Given the description of an element on the screen output the (x, y) to click on. 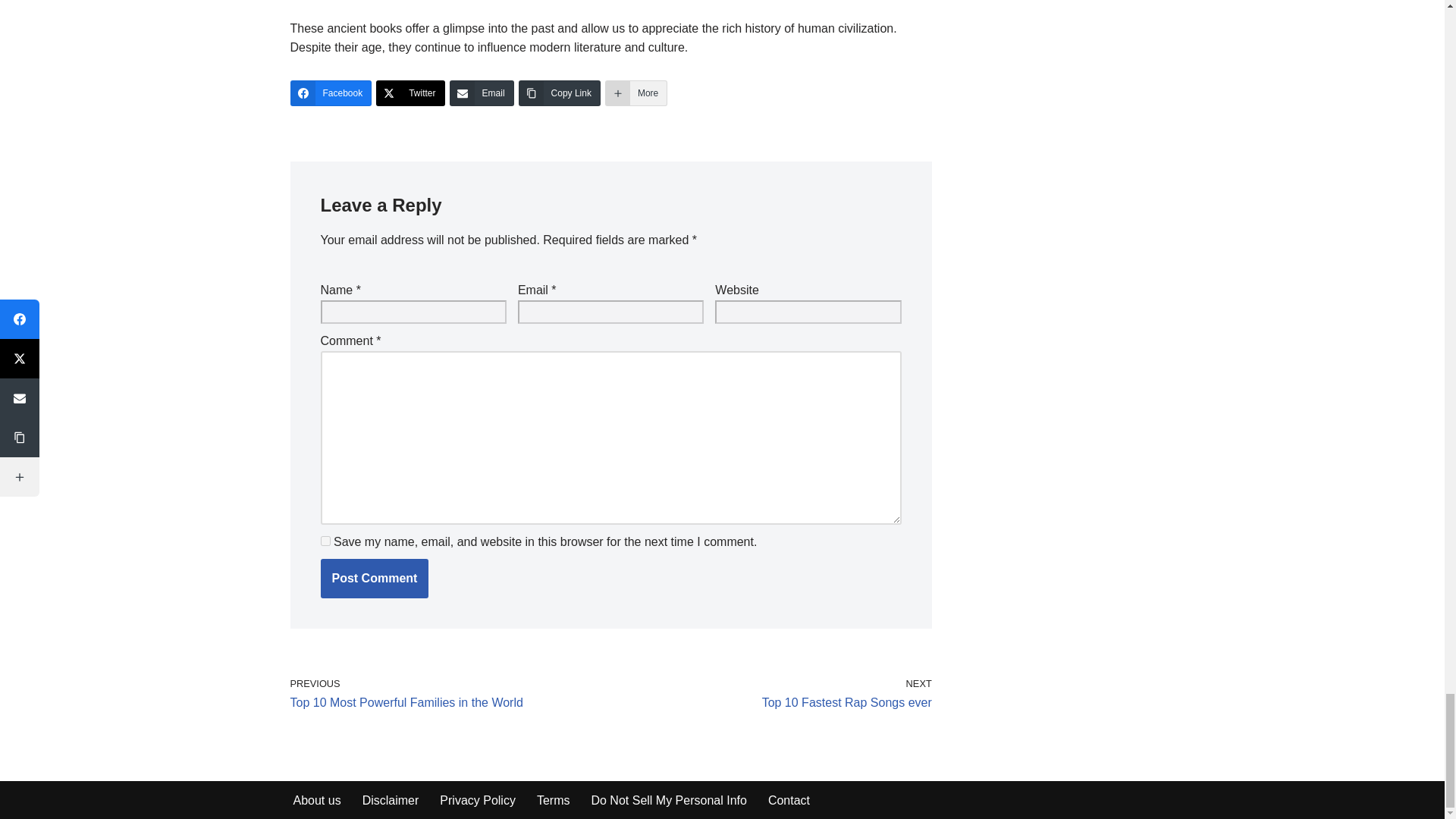
Post Comment (374, 578)
yes (325, 540)
